Given the description of an element on the screen output the (x, y) to click on. 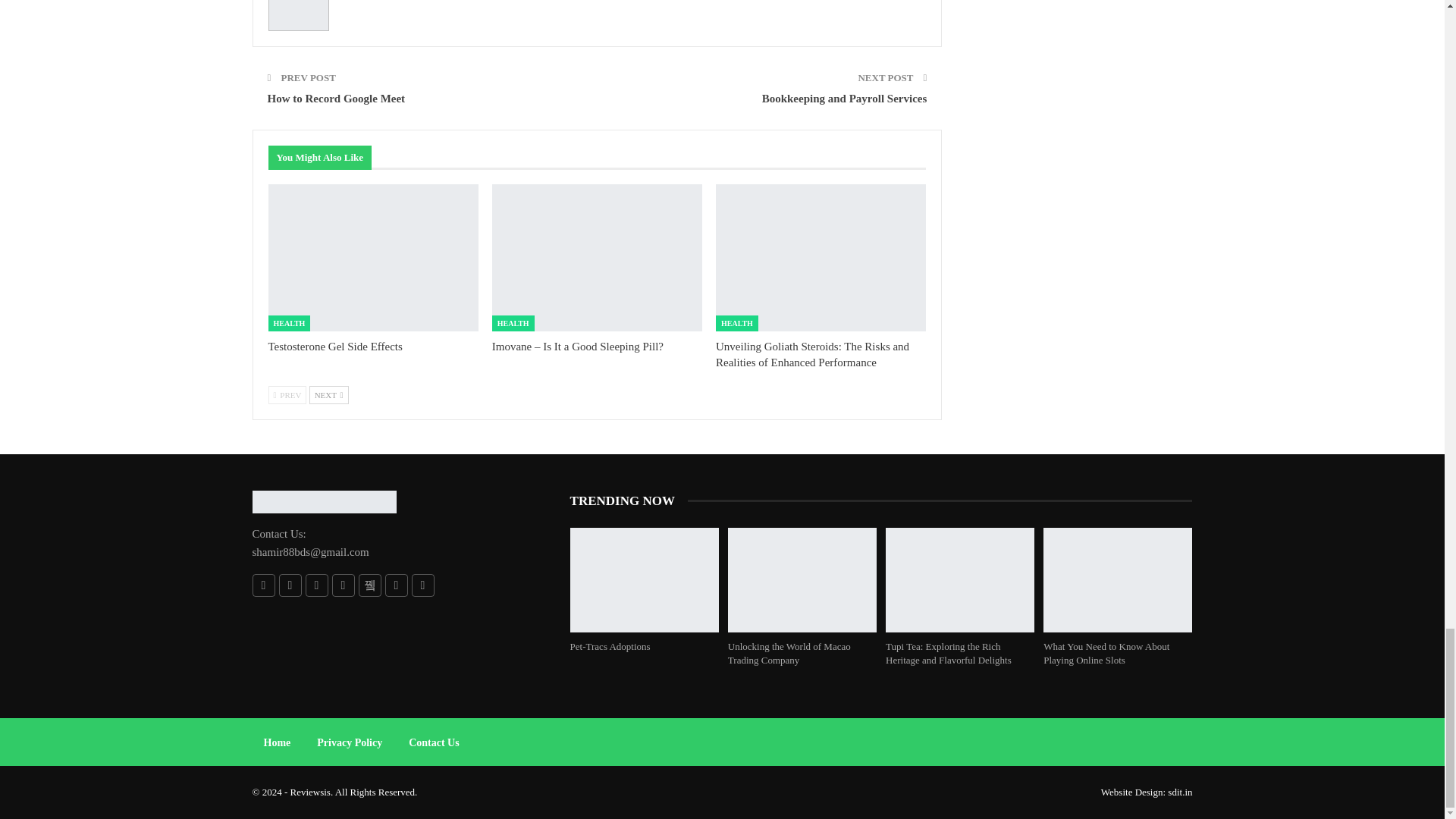
Testosterone Gel Side Effects (373, 257)
Testosterone Gel Side Effects (335, 346)
